Given the description of an element on the screen output the (x, y) to click on. 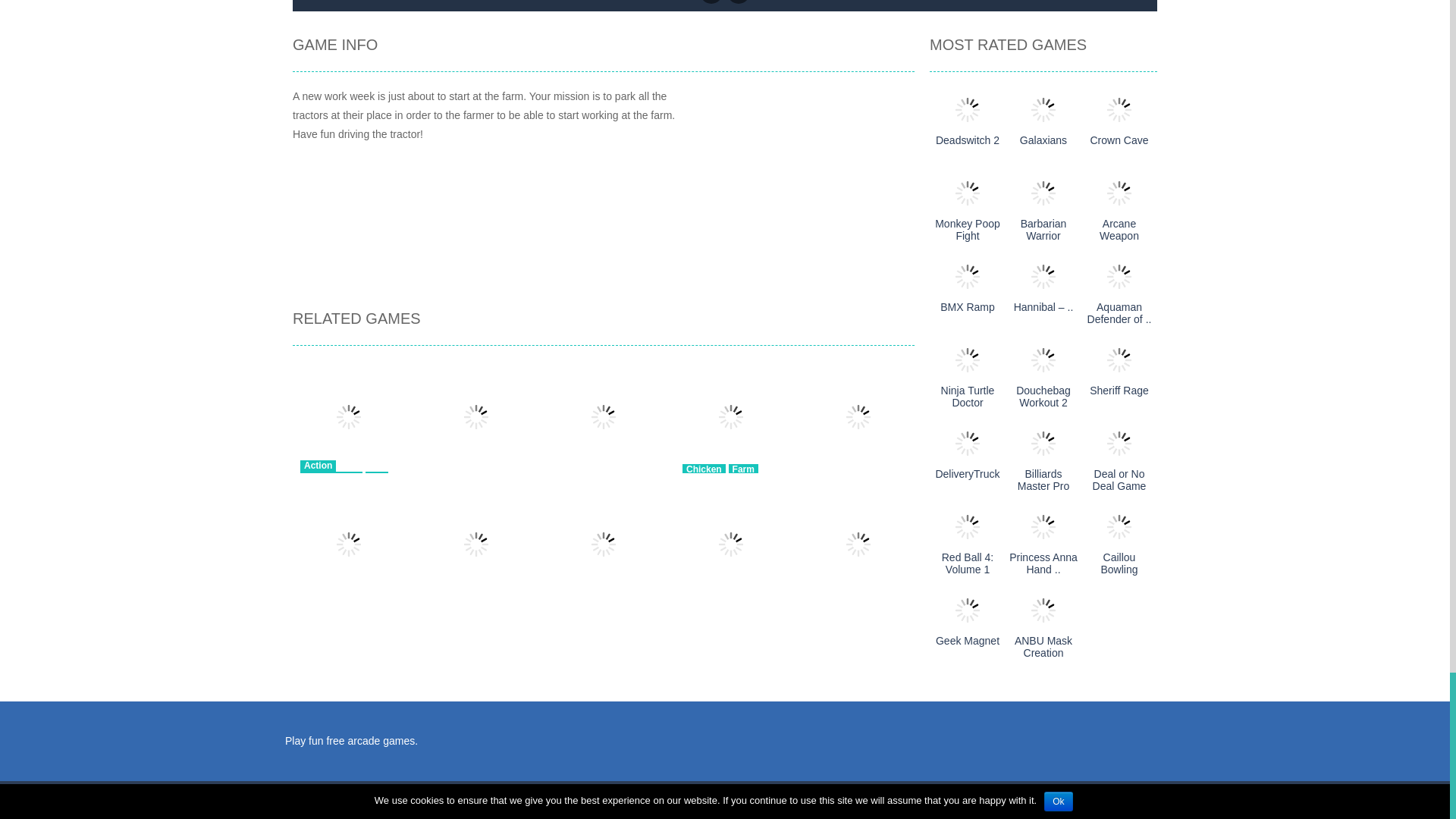
Car (376, 477)
Action (317, 465)
Advergames (330, 477)
